Given the description of an element on the screen output the (x, y) to click on. 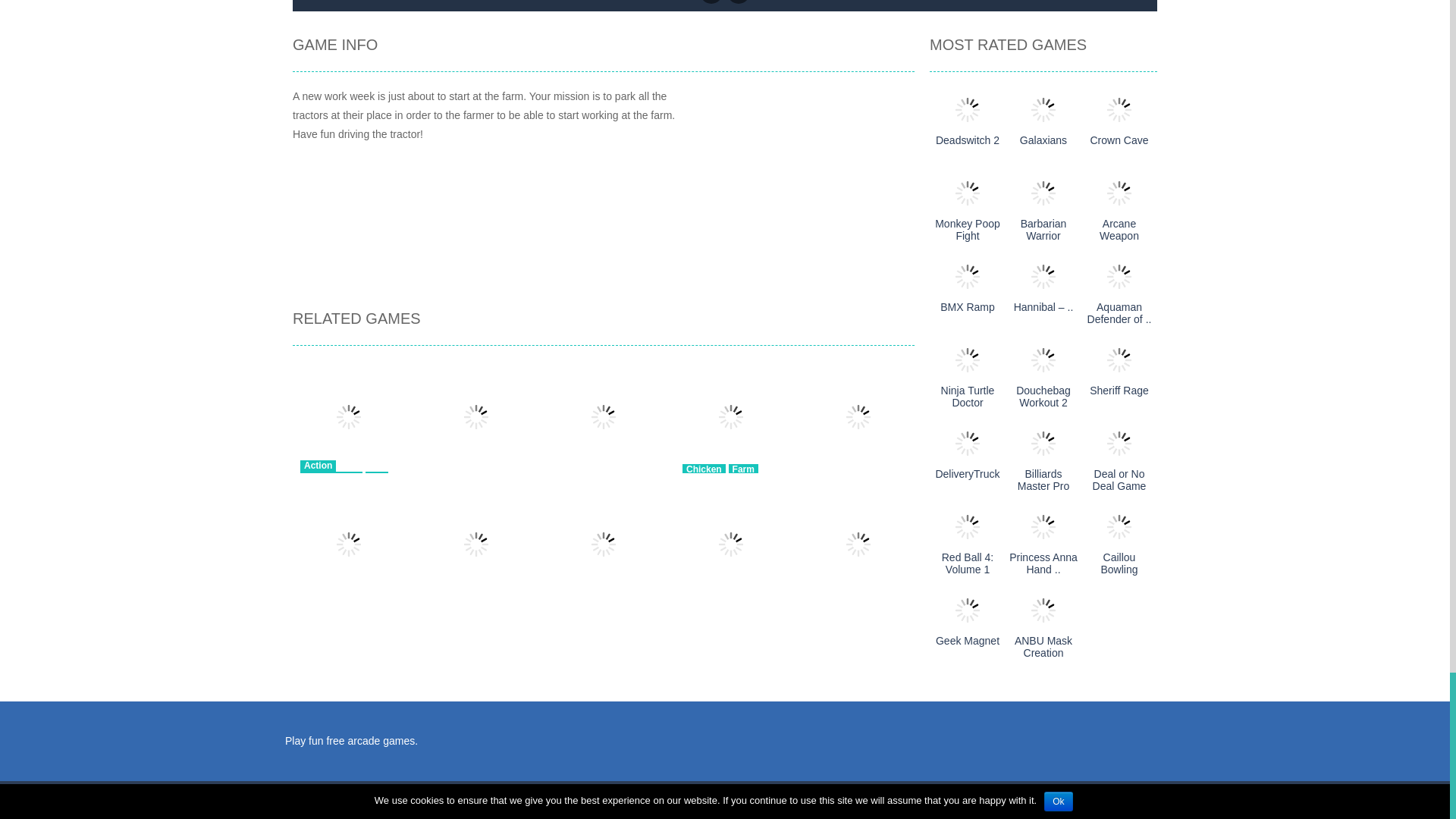
Car (376, 477)
Action (317, 465)
Advergames (330, 477)
